Given the description of an element on the screen output the (x, y) to click on. 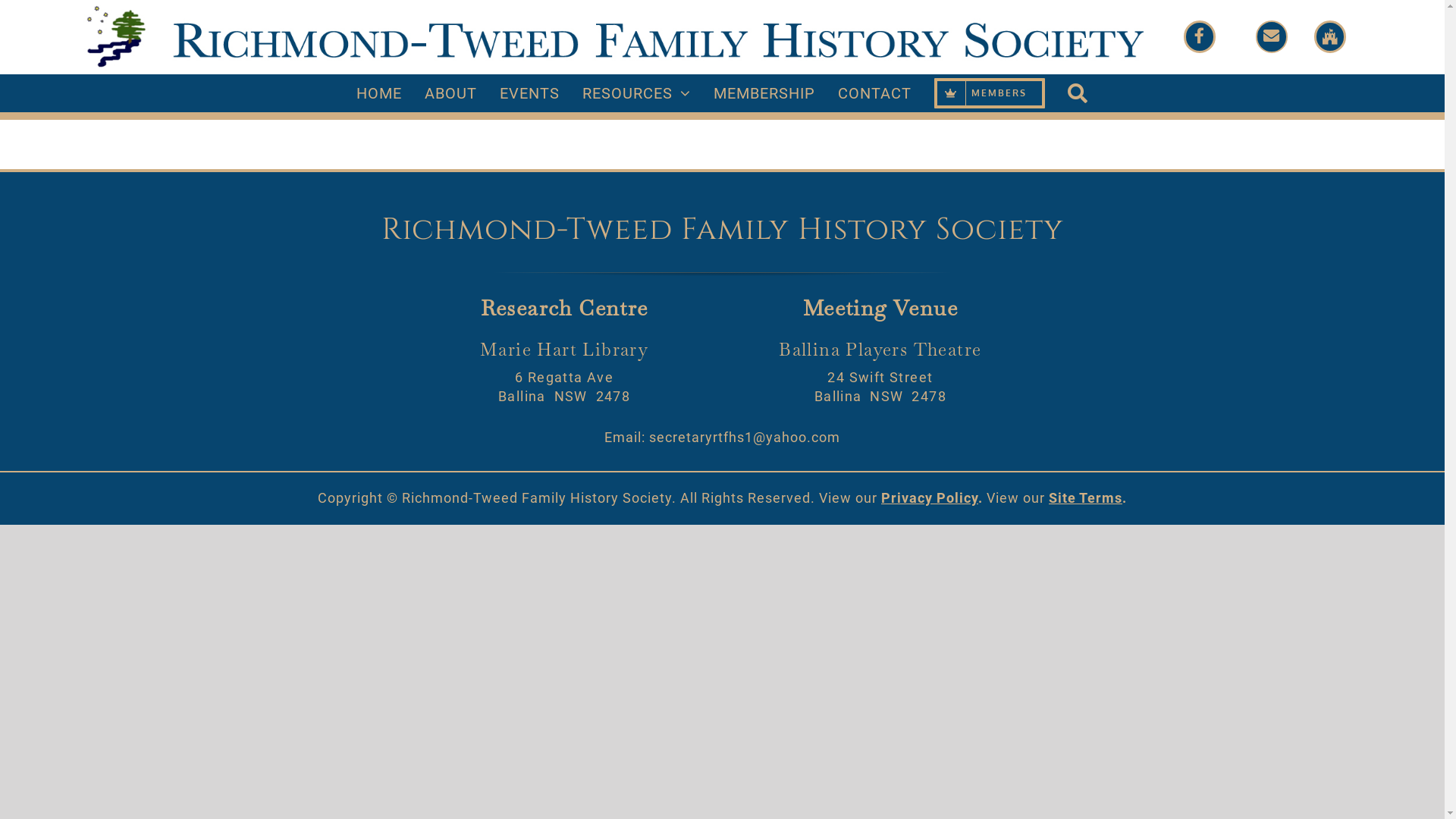
CONTACT Element type: text (874, 92)
RESOURCES Element type: text (636, 92)
MEMBERS Element type: text (989, 93)
ABOUT Element type: text (450, 92)
Site Terms Element type: text (1085, 497)
MEMBERSHIP Element type: text (764, 92)
HOME Element type: text (378, 92)
secretaryrtfhs1@yahoo.com Element type: text (744, 437)
Ballina Players Theatre Element type: text (879, 349)
Search Element type: hover (1077, 93)
EVENTS Element type: text (529, 92)
Privacy Policy Element type: text (929, 497)
